Given the description of an element on the screen output the (x, y) to click on. 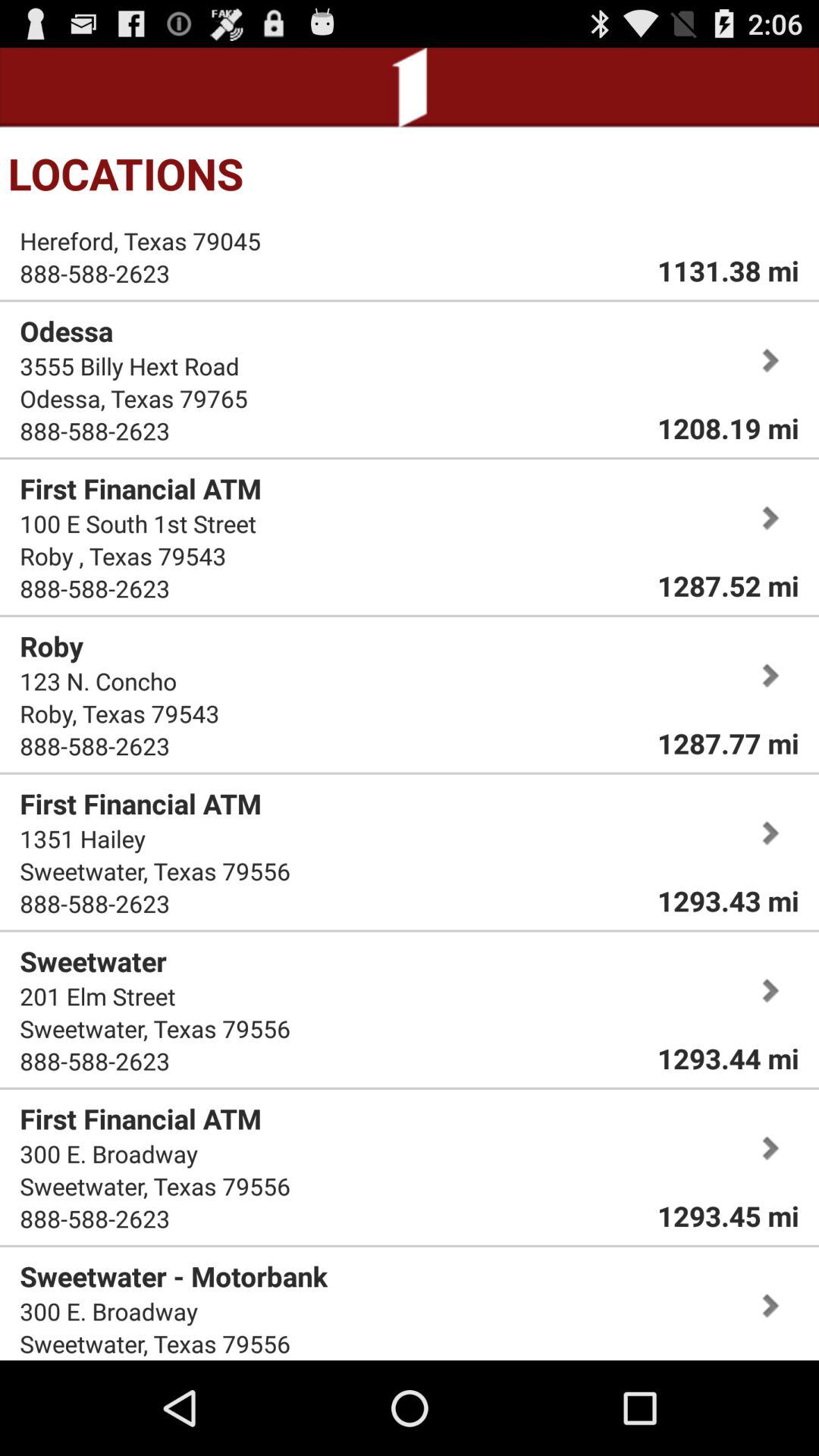
jump to the hereford, texas 79045 icon (140, 240)
